Given the description of an element on the screen output the (x, y) to click on. 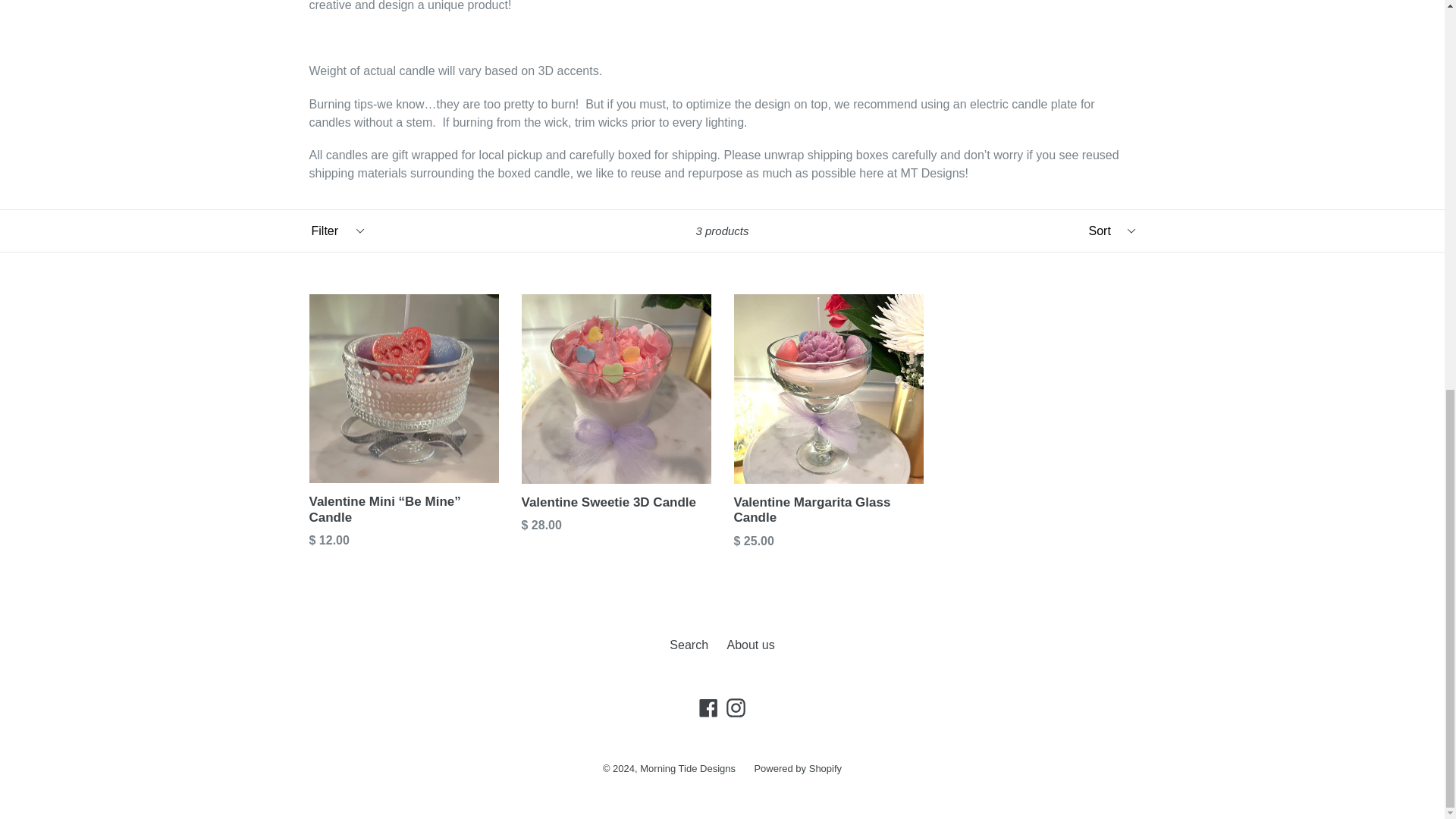
Morning Tide Designs on Instagram (735, 707)
Facebook (708, 707)
Powered by Shopify (797, 767)
About us (750, 644)
Morning Tide Designs on Facebook (708, 707)
Search (688, 644)
Morning Tide Designs (687, 767)
Instagram (735, 707)
